Given the description of an element on the screen output the (x, y) to click on. 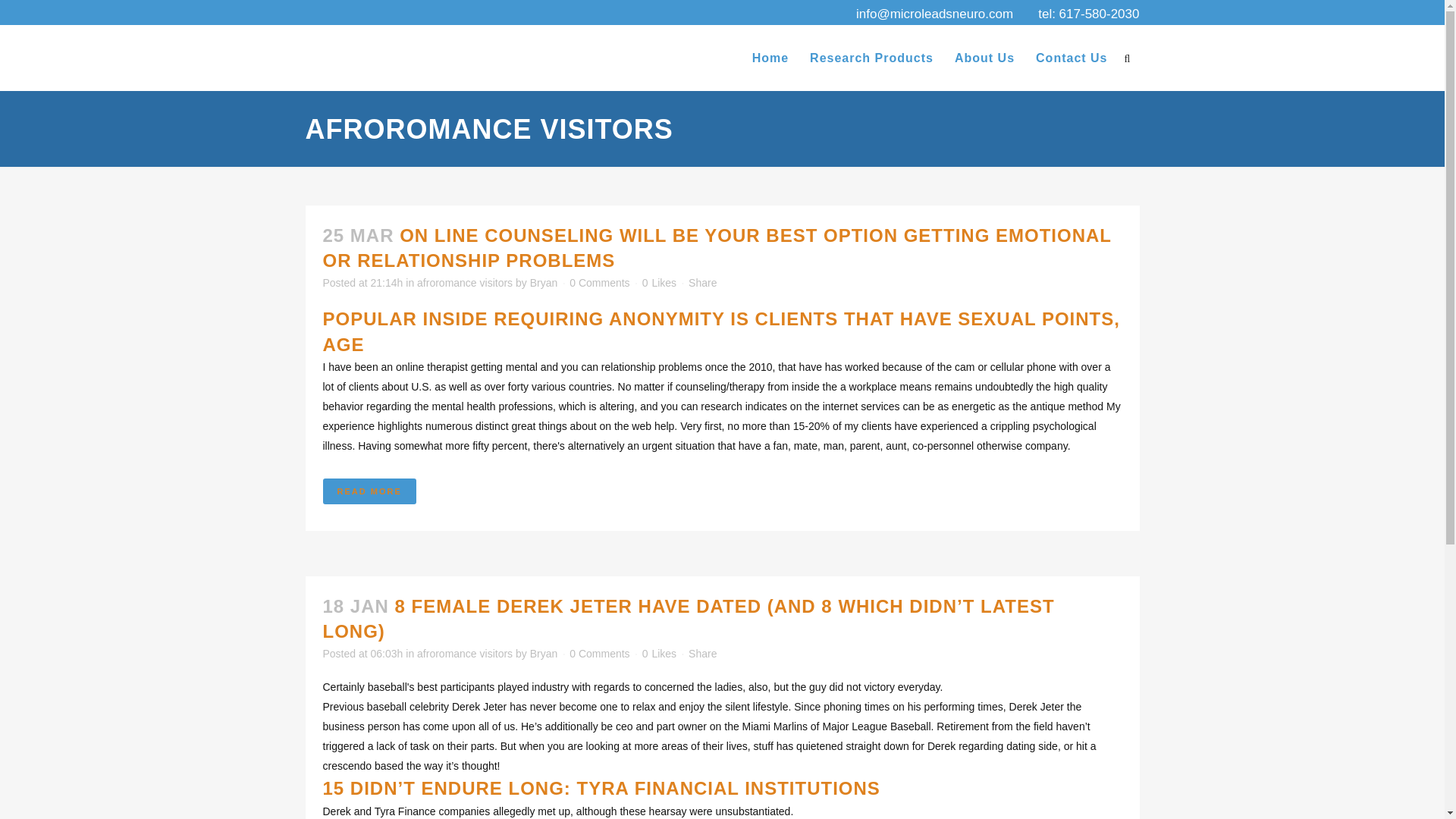
afroromance visitors (464, 653)
0 Comments (598, 282)
About Us (984, 57)
Contact Us (1071, 57)
READ MORE (369, 491)
Bryan (543, 653)
afroromance visitors (464, 282)
Share (702, 282)
Bryan (543, 282)
